Given the description of an element on the screen output the (x, y) to click on. 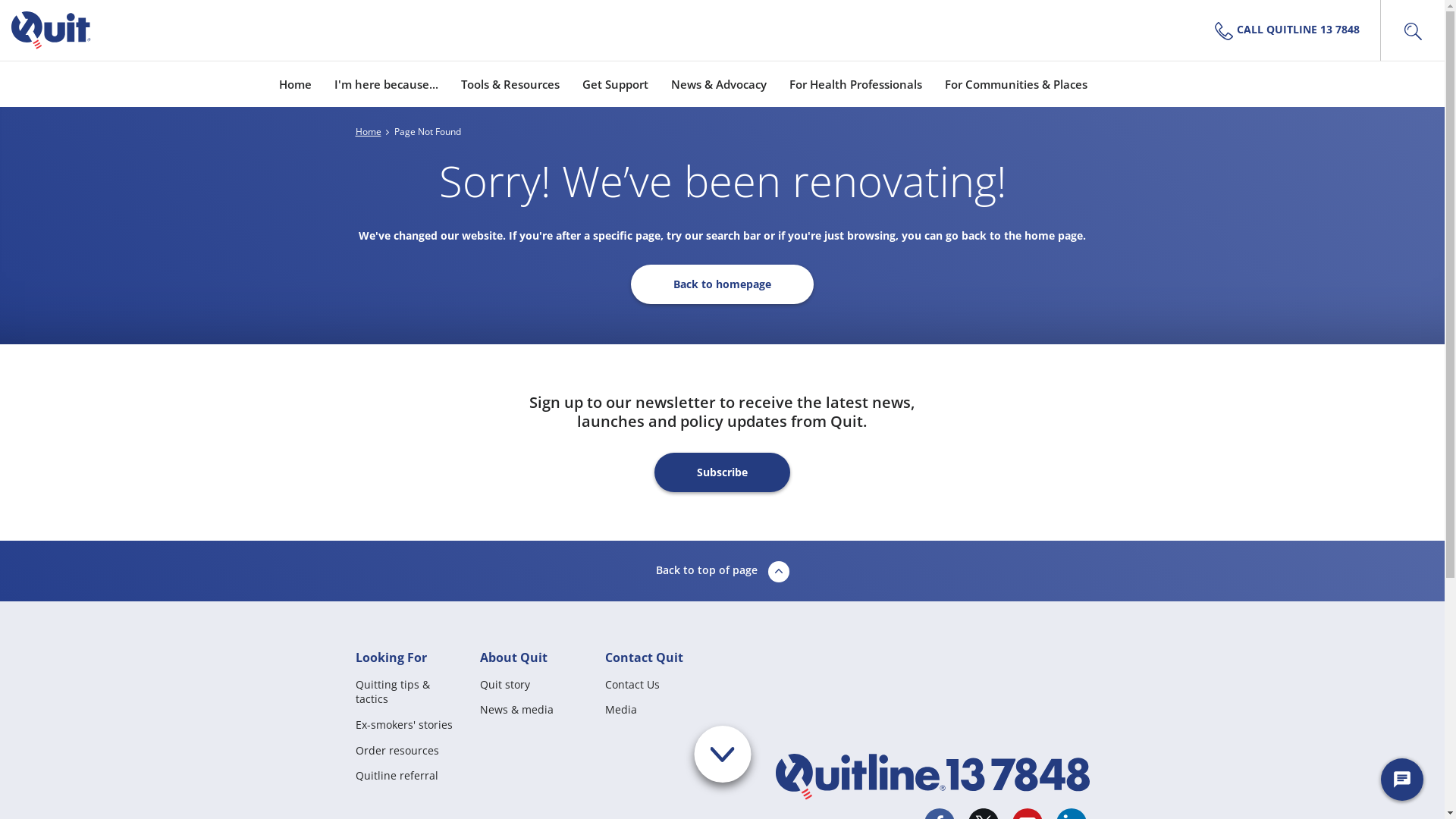
Quitting tips & tactics Element type: text (409, 698)
News & media Element type: text (516, 709)
CALL QUITLINE 13 7848 Element type: text (1292, 30)
Back to homepage Element type: text (721, 284)
For Health Professionals Element type: text (854, 83)
News & Advocacy Element type: text (717, 83)
Get Support Element type: text (615, 83)
For Communities & Places Element type: text (1015, 83)
Ex-smokers' stories Element type: text (402, 724)
Quitline referral Element type: text (395, 775)
Home Element type: text (367, 131)
Subscribe Element type: text (722, 472)
Home Element type: text (295, 83)
Genesys Messenger Launcher Element type: hover (1401, 782)
Quit story Element type: text (505, 684)
Back to top of page Element type: text (722, 570)
Media Element type: text (621, 709)
Contact Us Element type: text (632, 684)
Tools & Resources Element type: text (510, 83)
I'm here because... Element type: text (385, 83)
Order resources Element type: text (396, 750)
